Given the description of an element on the screen output the (x, y) to click on. 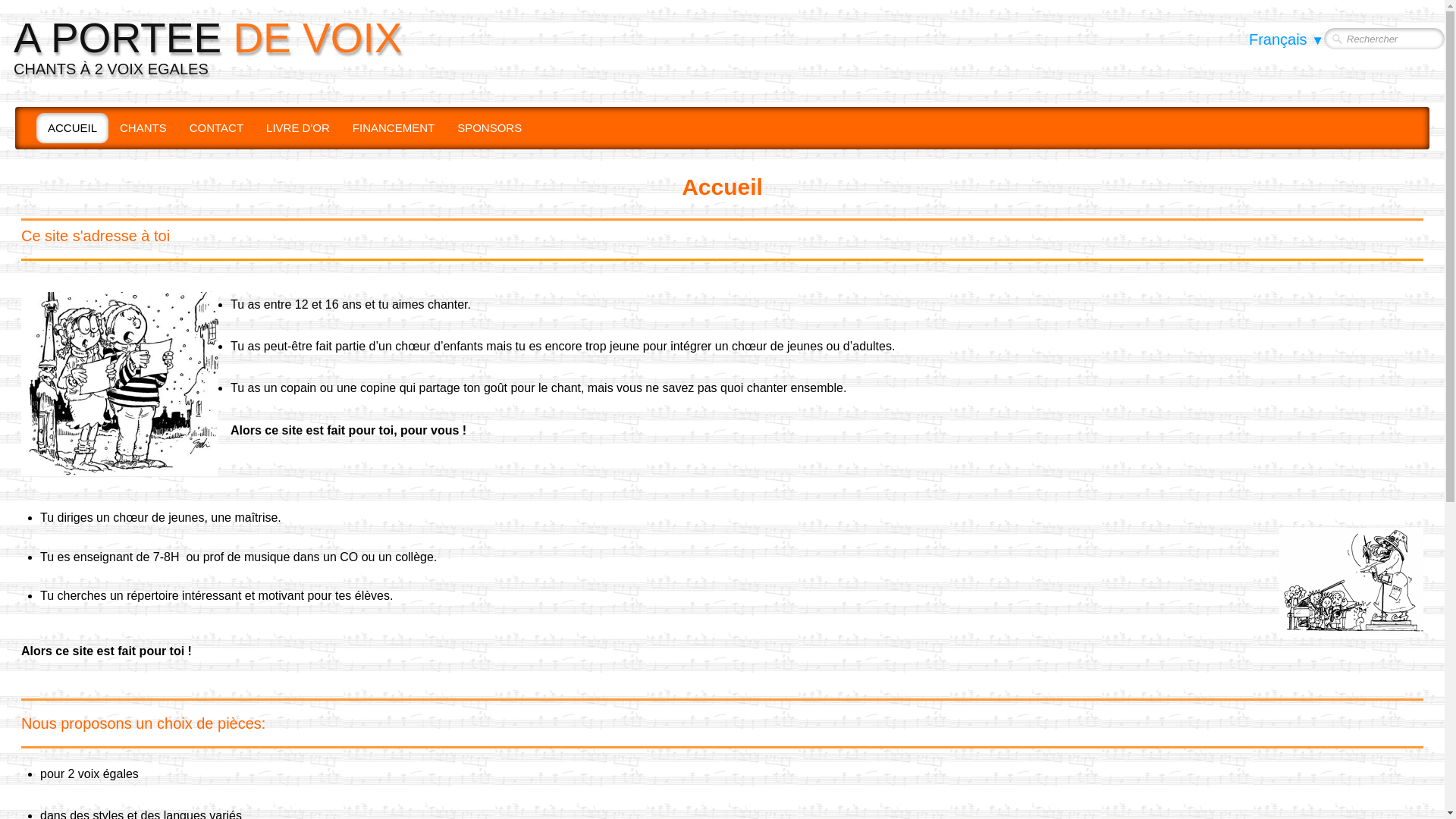
SPONSORS Element type: text (489, 127)
FINANCEMENT Element type: text (393, 127)
CONTACT Element type: text (216, 127)
CHANTS Element type: text (143, 127)
LIVRE D'OR Element type: text (297, 127)
ACCUEIL Element type: text (72, 127)
